Given the description of an element on the screen output the (x, y) to click on. 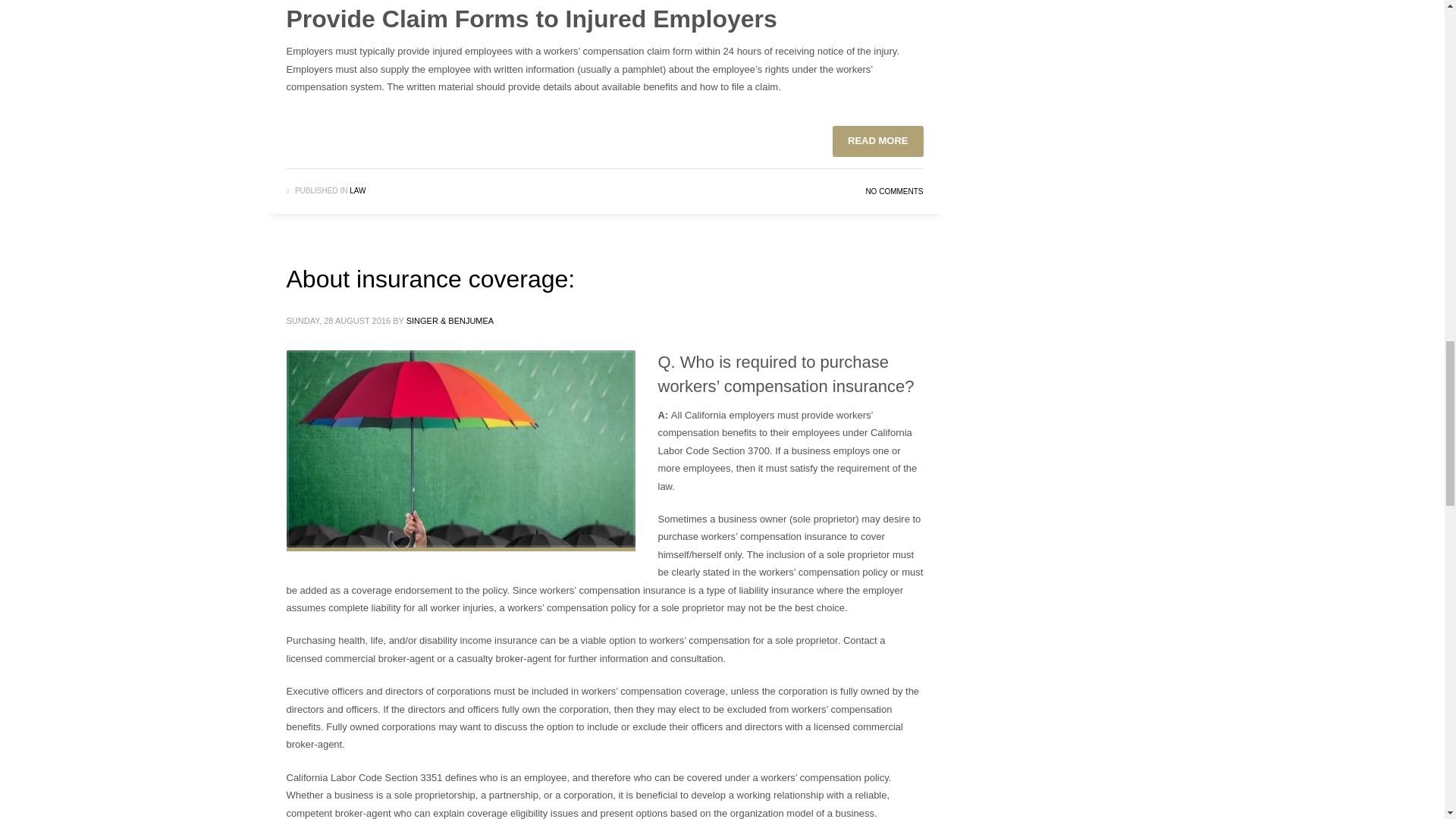
About insurance coverage: (430, 278)
NO COMMENTS (893, 191)
LAW (357, 190)
READ MORE (877, 141)
ext (460, 448)
